Given the description of an element on the screen output the (x, y) to click on. 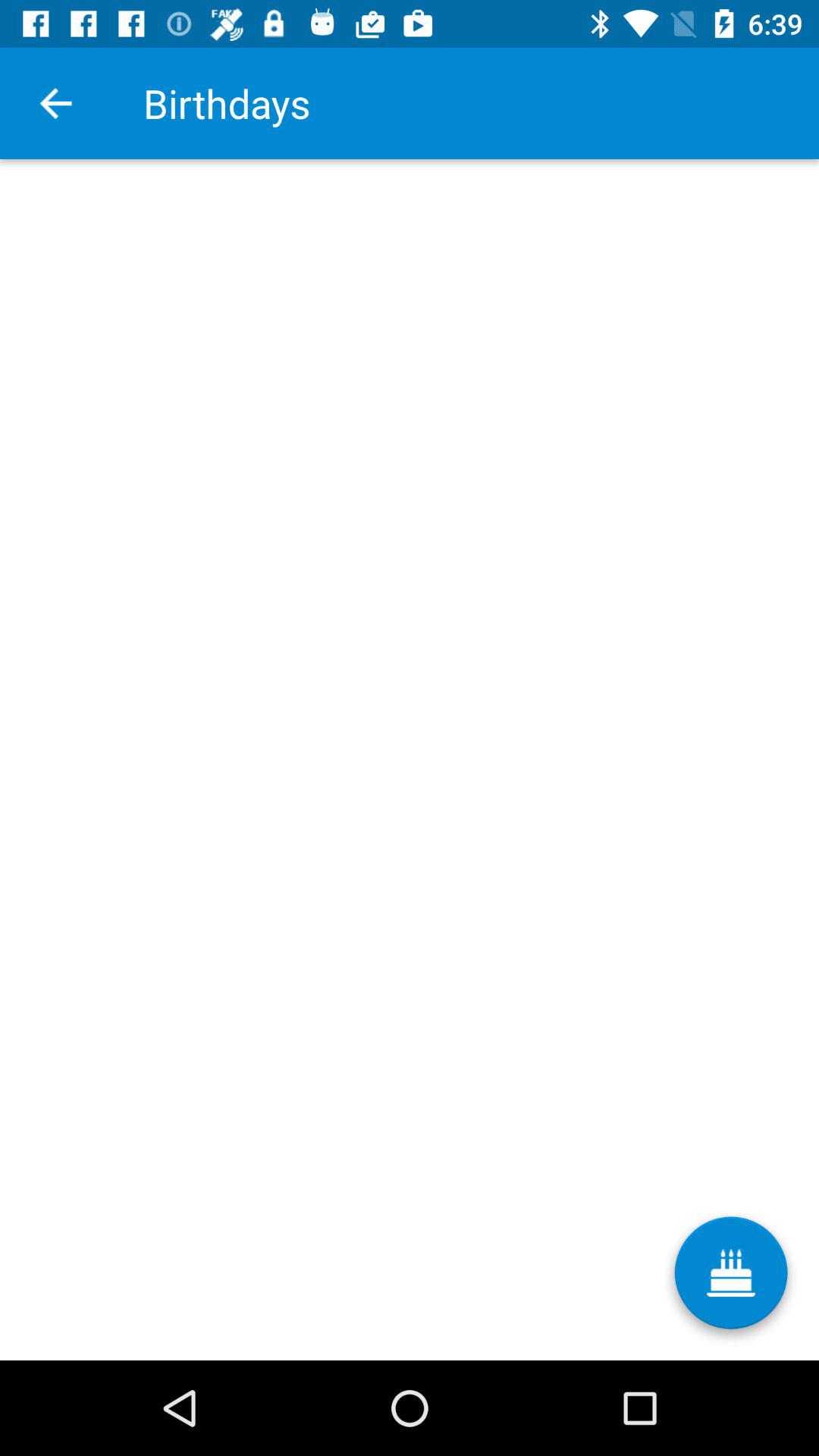
launch icon at the top left corner (55, 103)
